Given the description of an element on the screen output the (x, y) to click on. 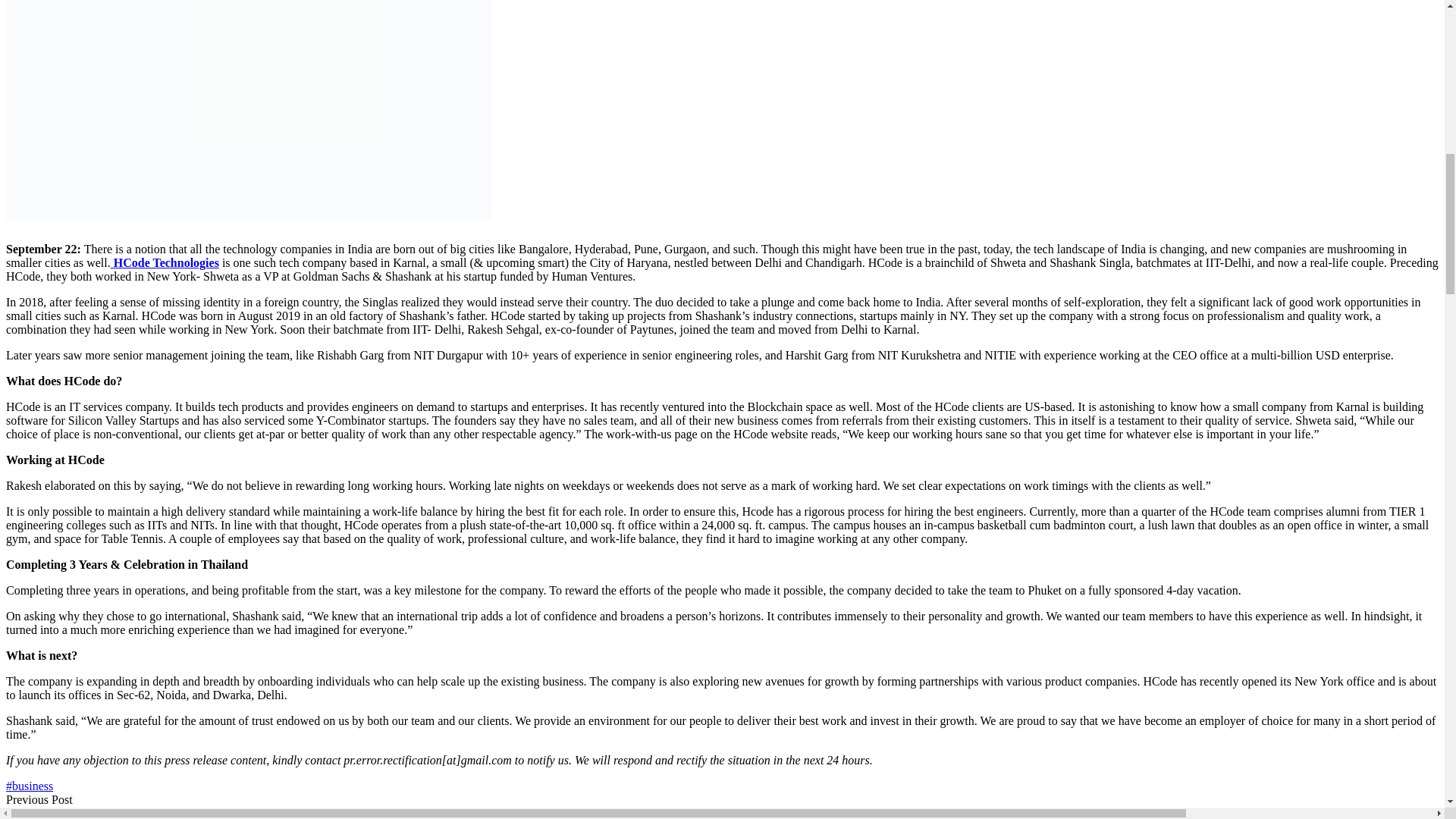
 HCode Technologies (164, 262)
